Given the description of an element on the screen output the (x, y) to click on. 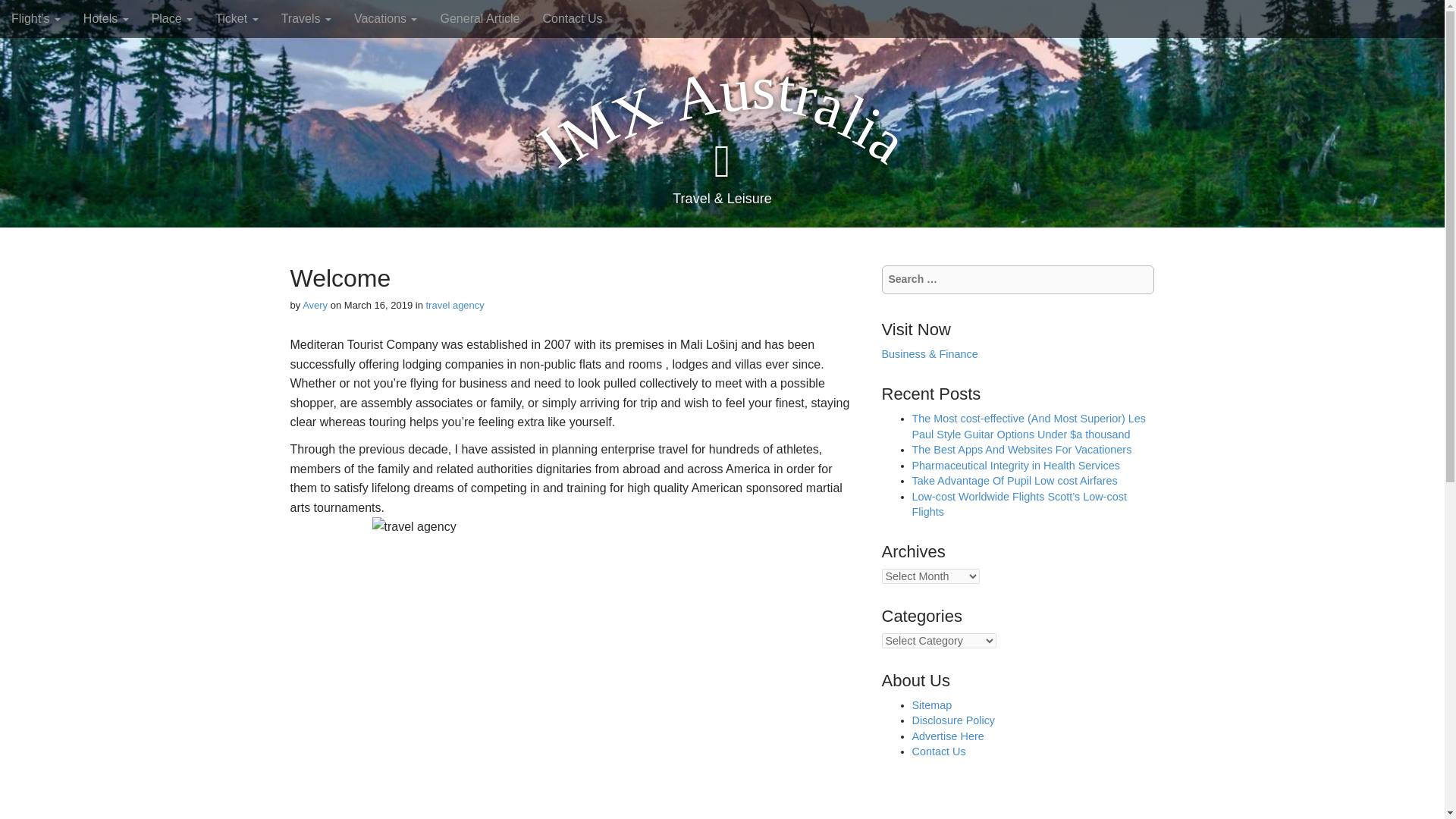
Contact Us (571, 18)
Hotels (105, 18)
Vacations (385, 18)
travel agency (455, 305)
Search (23, 14)
Avery (314, 305)
Place (171, 18)
Ticket (236, 18)
General Article (479, 18)
March 16, 2019 (377, 305)
